Given the description of an element on the screen output the (x, y) to click on. 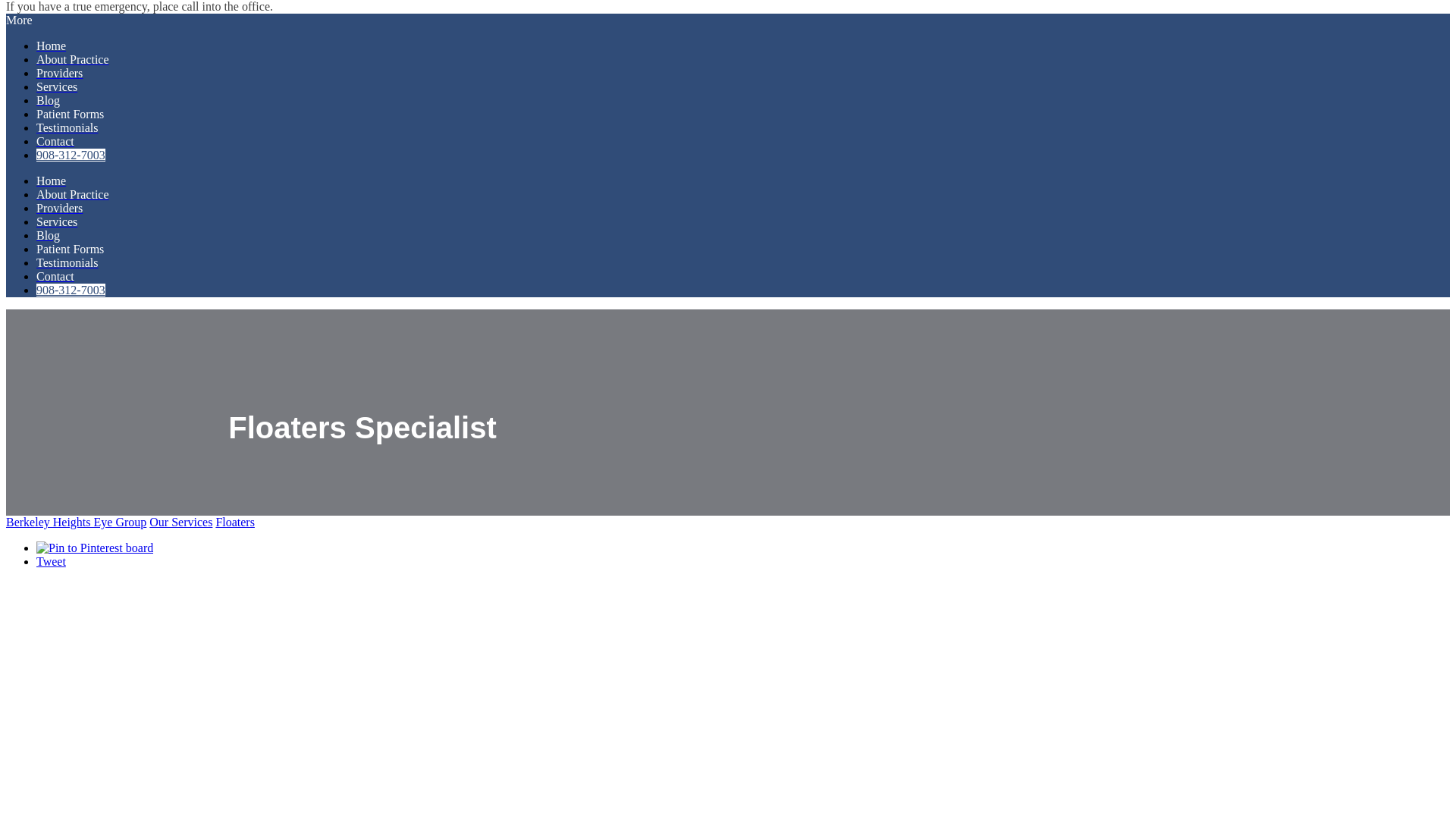
Home (50, 180)
Providers (59, 72)
Providers (59, 207)
Blog (47, 235)
908-312-7003 (70, 154)
About Practice (72, 59)
About Practice (72, 194)
Services (56, 86)
Contact (55, 141)
Blog (47, 100)
